Given the description of an element on the screen output the (x, y) to click on. 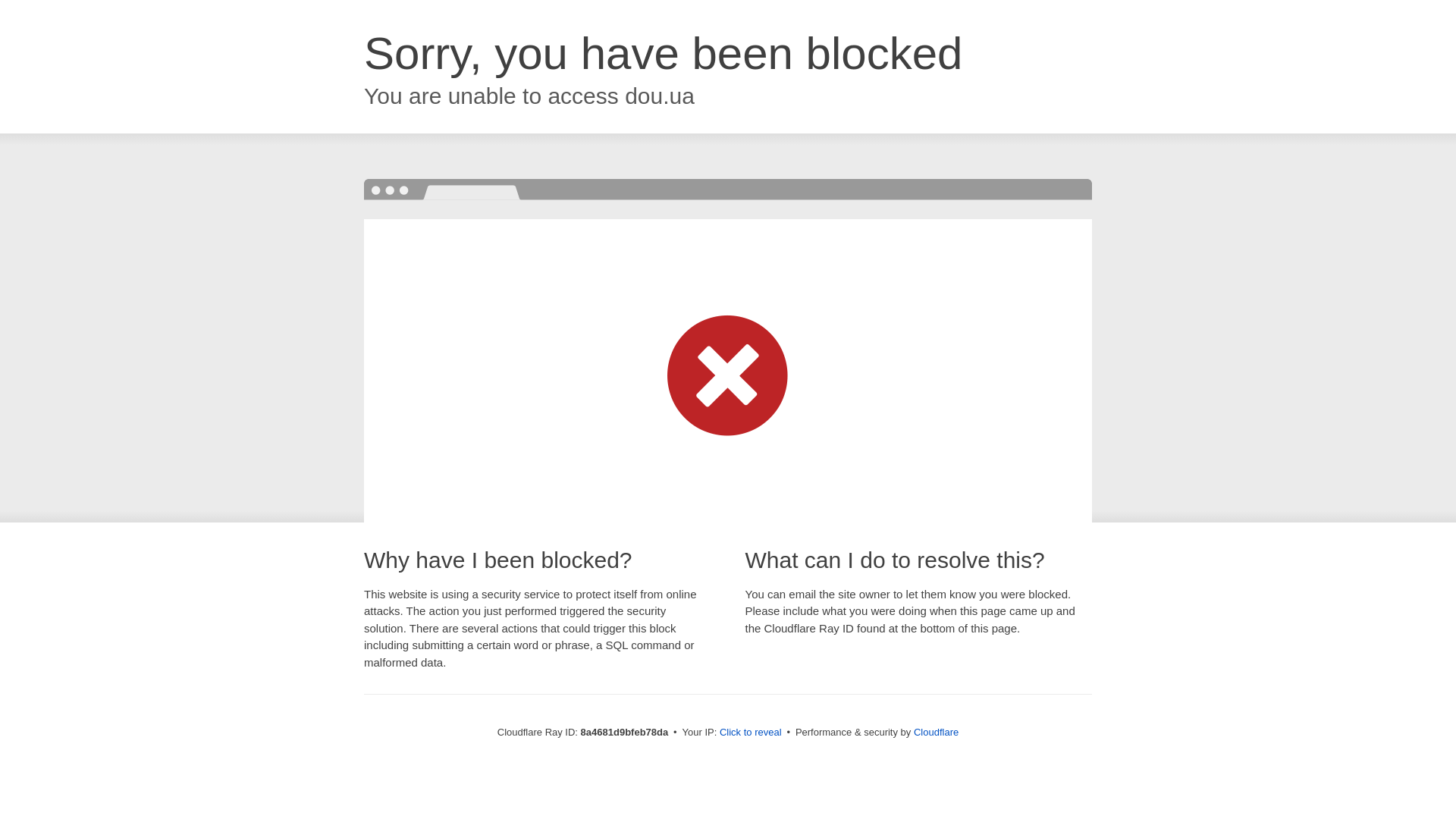
Click to reveal (750, 732)
Cloudflare (936, 731)
